Given the description of an element on the screen output the (x, y) to click on. 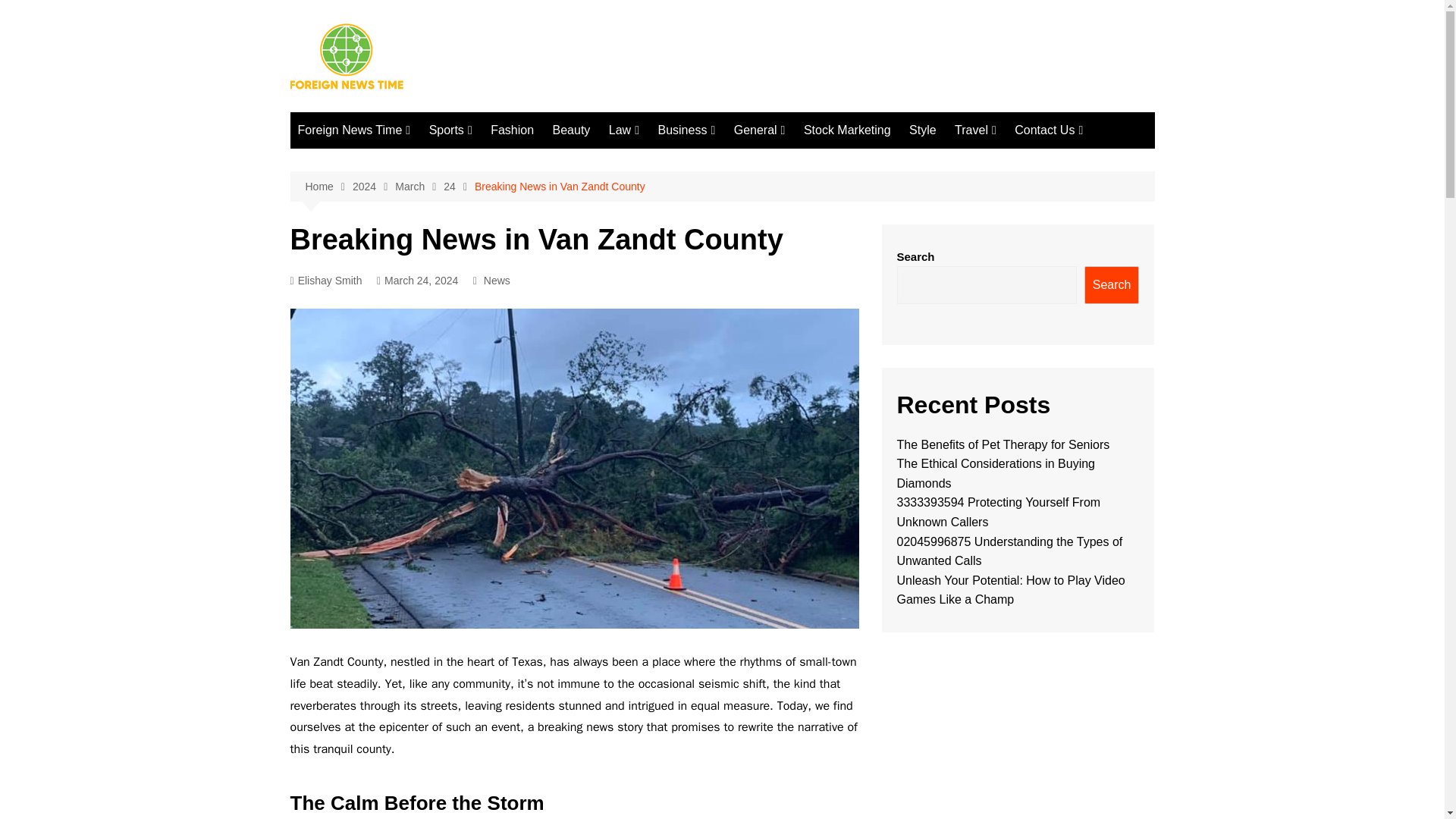
United State (373, 461)
Africa (373, 211)
United Kingdom (373, 436)
Foreign News Time (353, 130)
Fashion (512, 130)
Pro Football (505, 160)
International News (373, 186)
Australia (373, 285)
Law (623, 130)
Criminal Law (684, 160)
Soccer (505, 186)
Deals (732, 160)
Business (685, 130)
Sports (451, 130)
Hockey (671, 260)
